Given the description of an element on the screen output the (x, y) to click on. 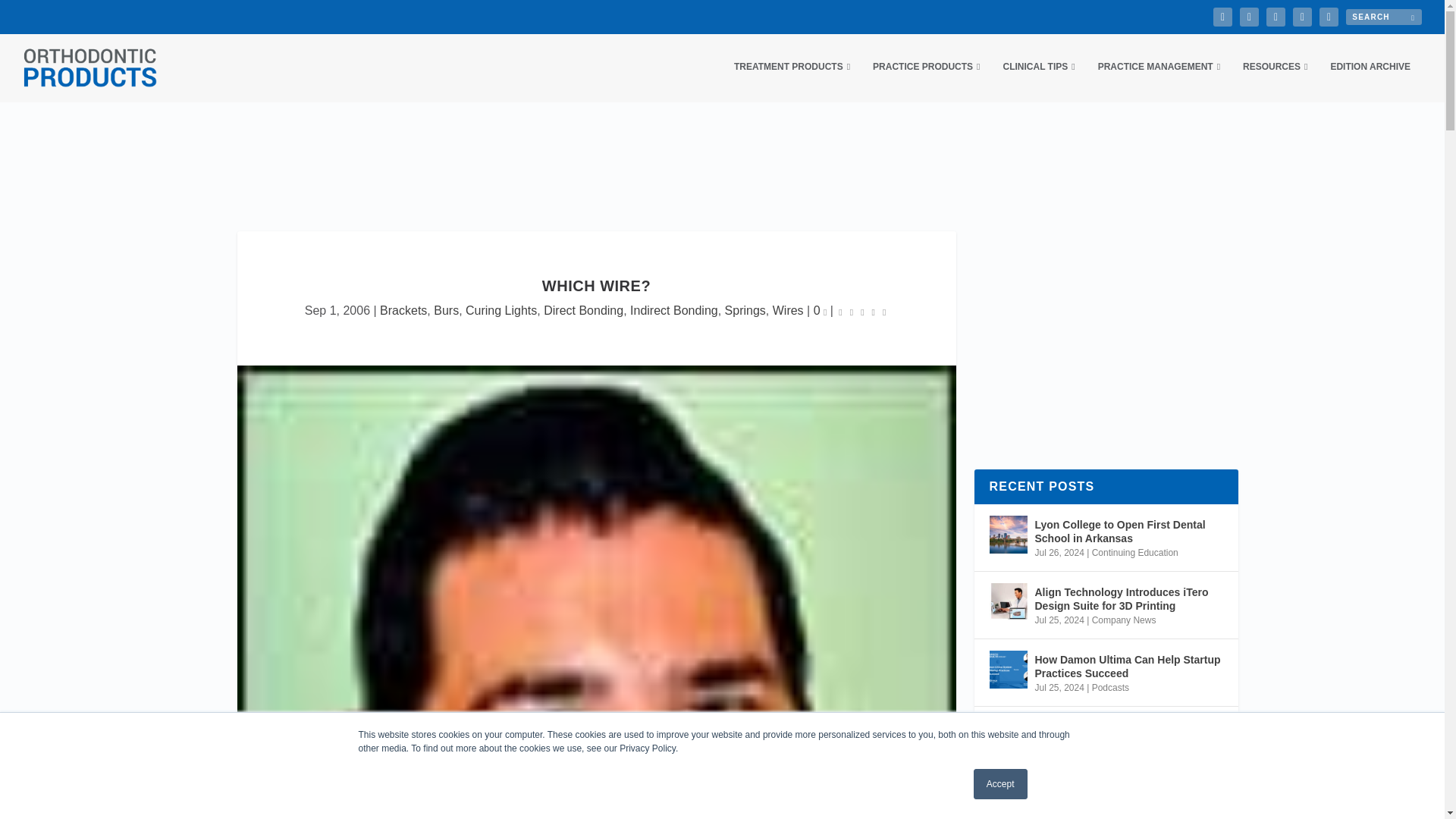
Search for: (1383, 17)
RESOURCES (1275, 81)
PRACTICE PRODUCTS (925, 81)
Accept (1000, 784)
CLINICAL TIPS (1038, 81)
PRACTICE MANAGEMENT (1158, 81)
TREATMENT PRODUCTS (791, 81)
3rd party ad content (721, 166)
Rating: 0.00 (861, 311)
